Given the description of an element on the screen output the (x, y) to click on. 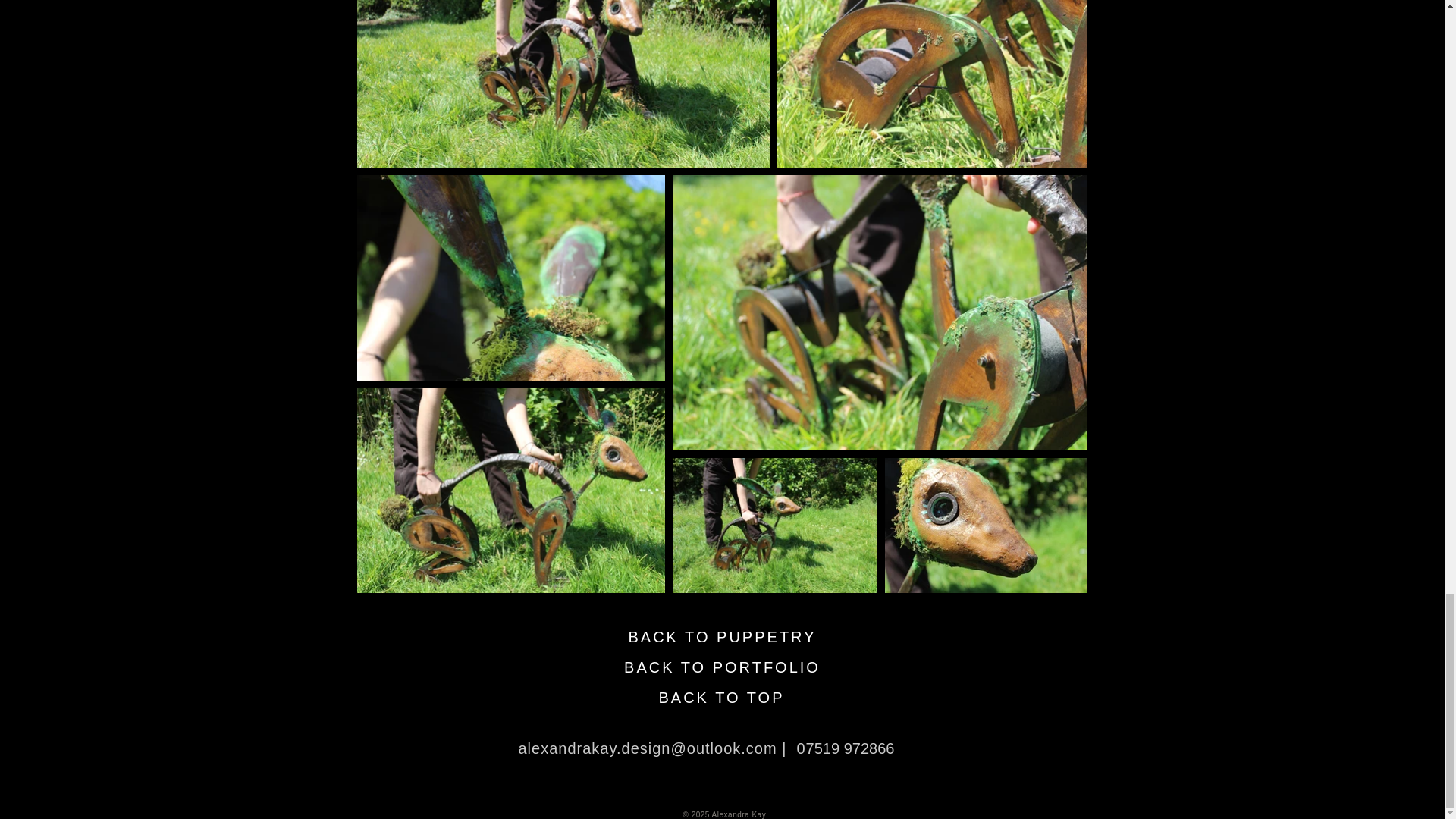
BACK TO PORTFOLIO (722, 666)
BACK TO TOP (721, 697)
BACK TO PUPPETRY (722, 636)
